Given the description of an element on the screen output the (x, y) to click on. 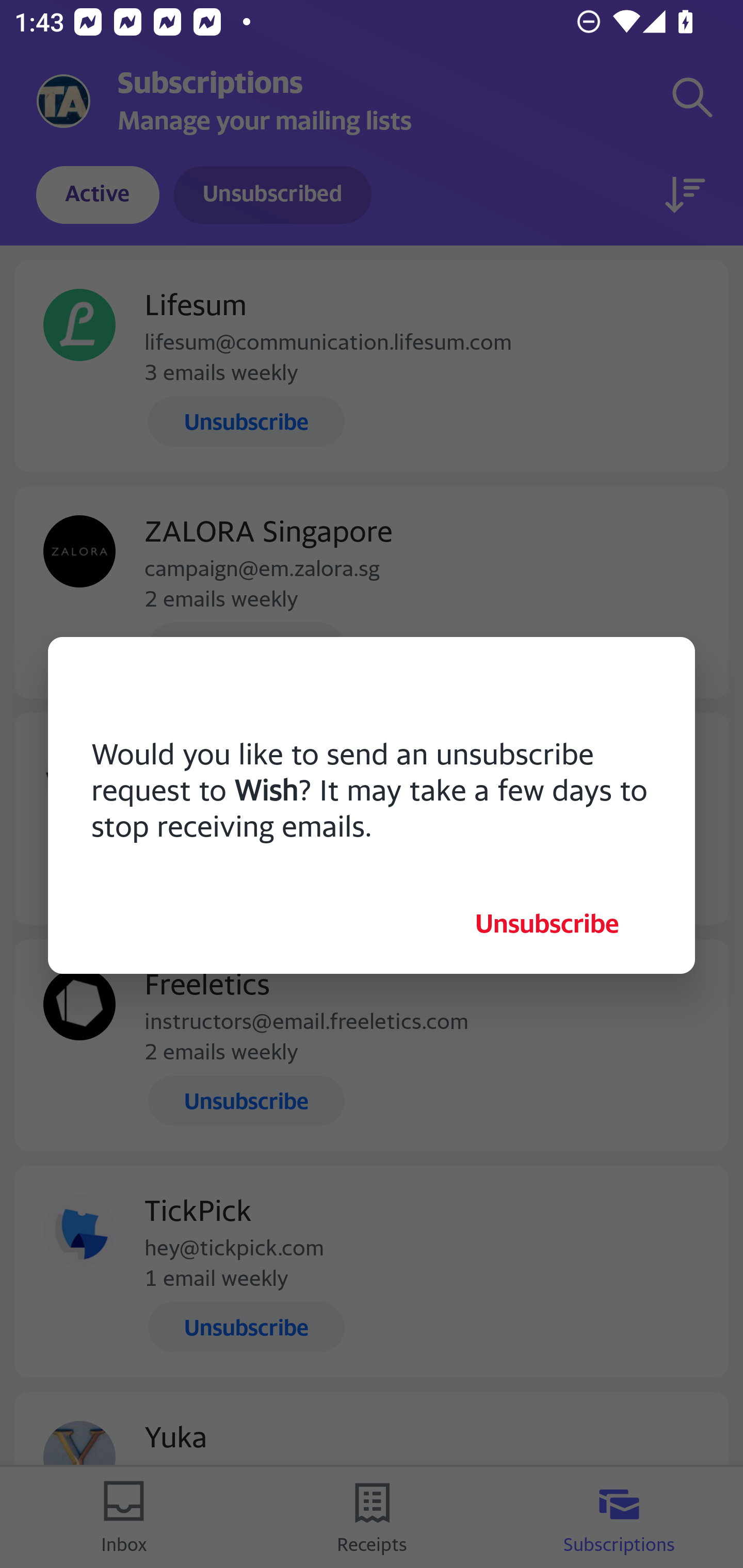
Unsubscribe (546, 923)
